Given the description of an element on the screen output the (x, y) to click on. 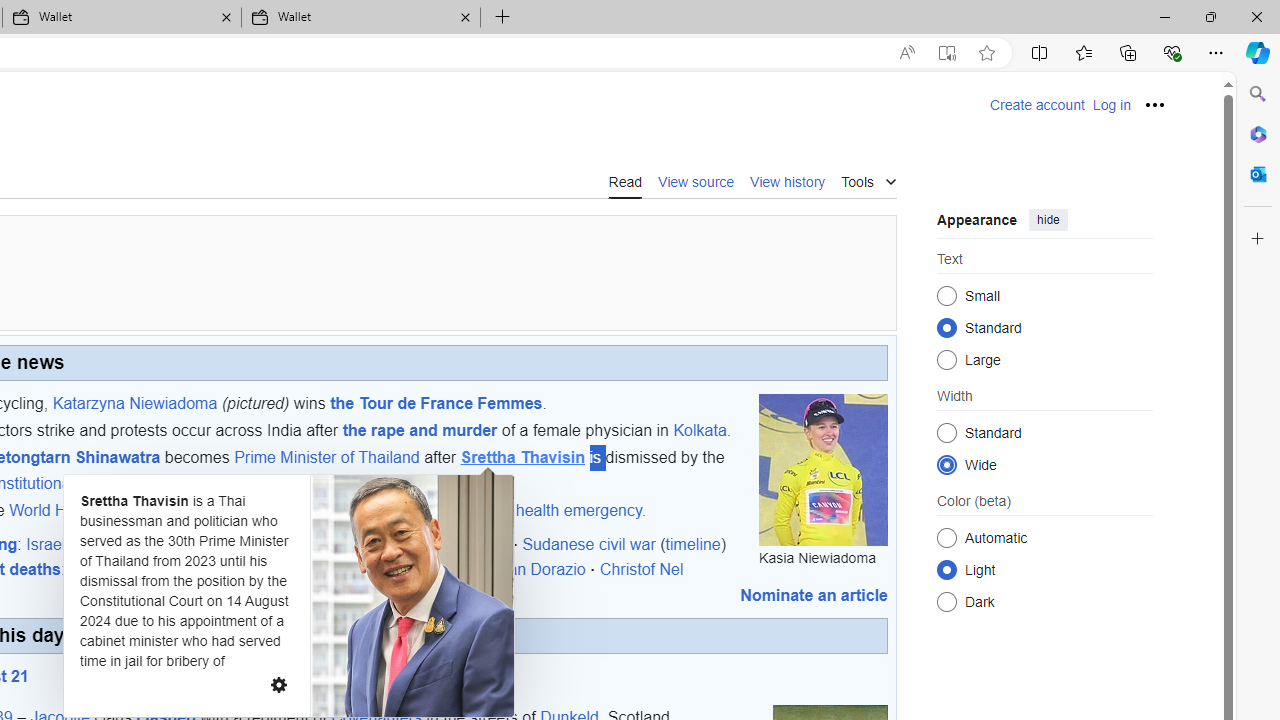
Read (625, 181)
Charis Eng (108, 569)
the rape and murder (419, 430)
Read (625, 180)
Tools (868, 179)
World Health Organization (102, 510)
Standard (946, 431)
View history (787, 180)
Log in (1111, 105)
